Given the description of an element on the screen output the (x, y) to click on. 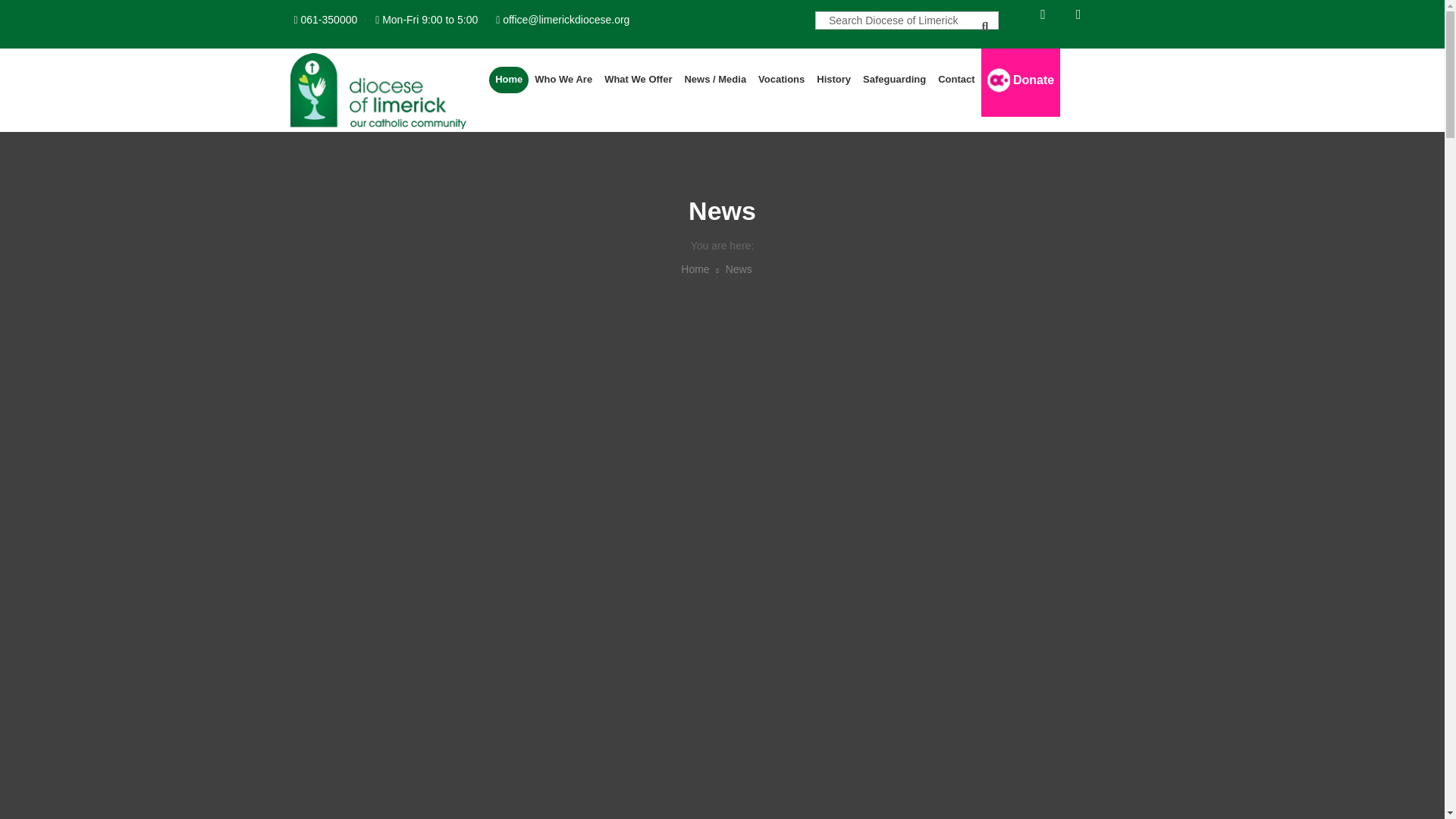
Home (508, 79)
What We Offer (638, 79)
061-350000 (329, 19)
Search Diocese of Limerick (906, 20)
Who We Are (563, 79)
